Given the description of an element on the screen output the (x, y) to click on. 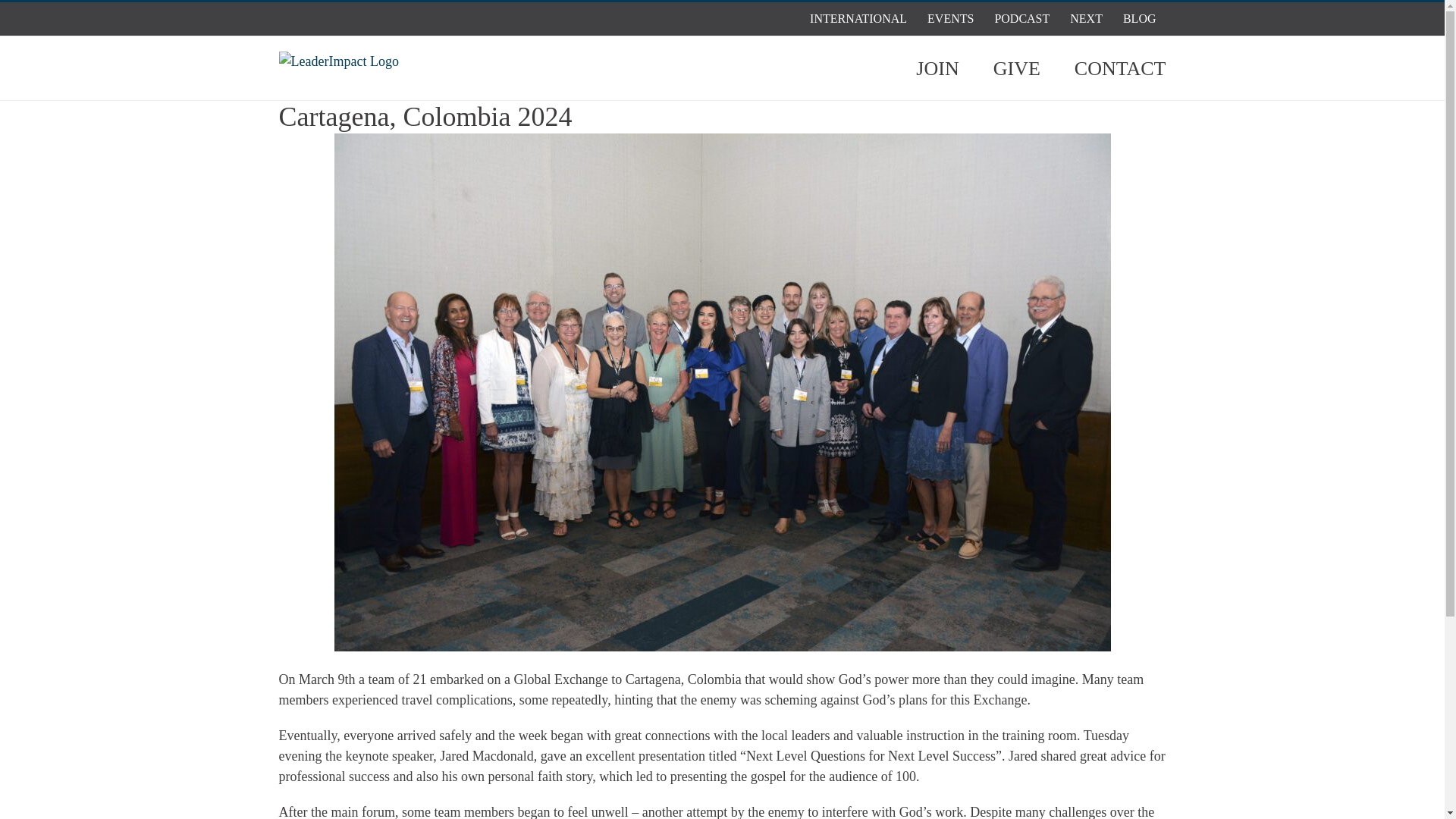
BLOG (1139, 19)
EVENTS (950, 19)
CONTACT (1120, 67)
PODCAST (1021, 19)
NEXT (1085, 19)
INTERNATIONAL (858, 19)
